Given the description of an element on the screen output the (x, y) to click on. 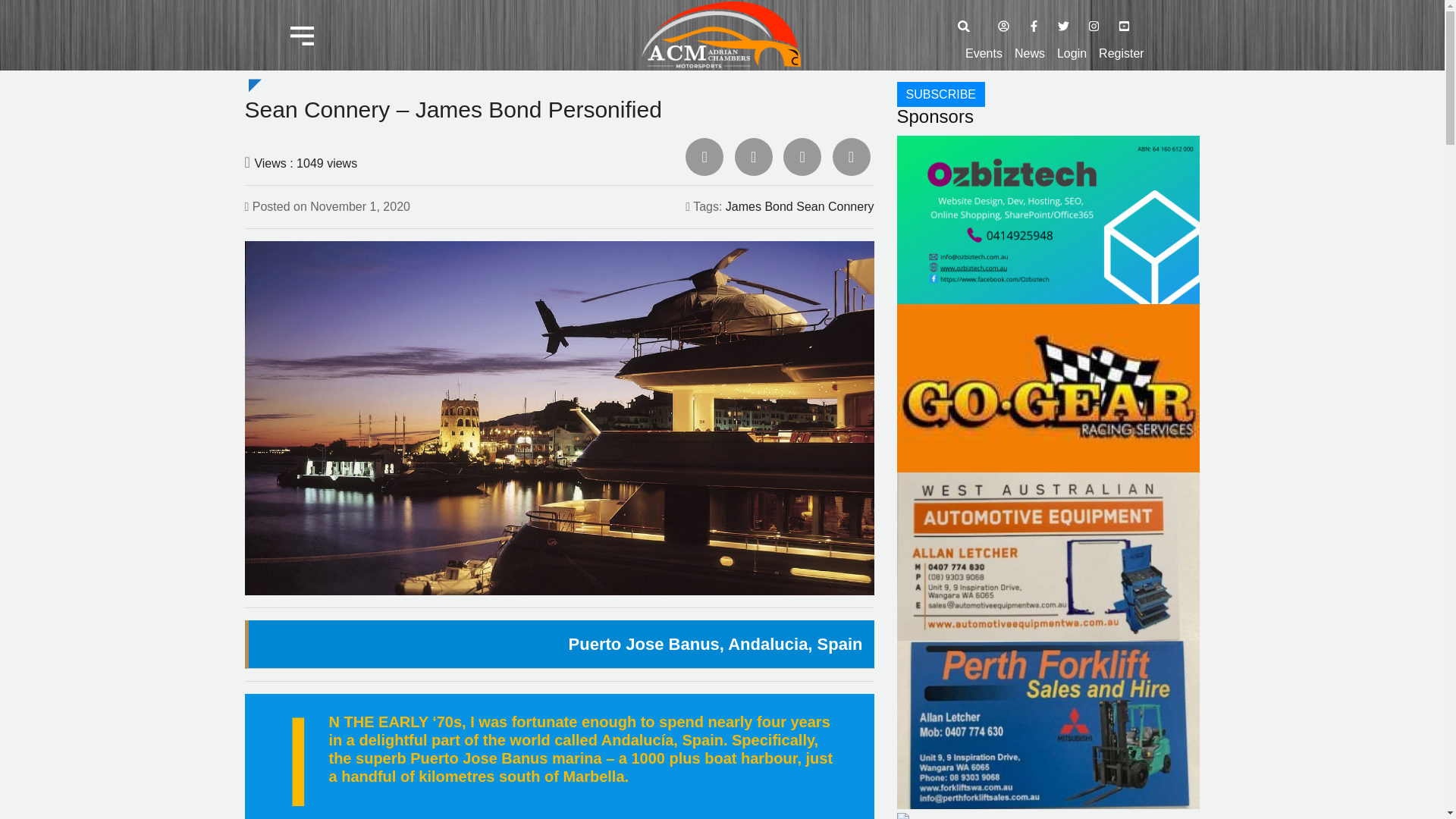
Login (1071, 54)
Twitter (754, 157)
Views : 1049 views (304, 163)
Events (984, 54)
Sean Connery (834, 205)
Facebook (704, 157)
SUBSCRIBE (940, 94)
James Bond (759, 205)
Register (1121, 54)
News (1029, 54)
